Given the description of an element on the screen output the (x, y) to click on. 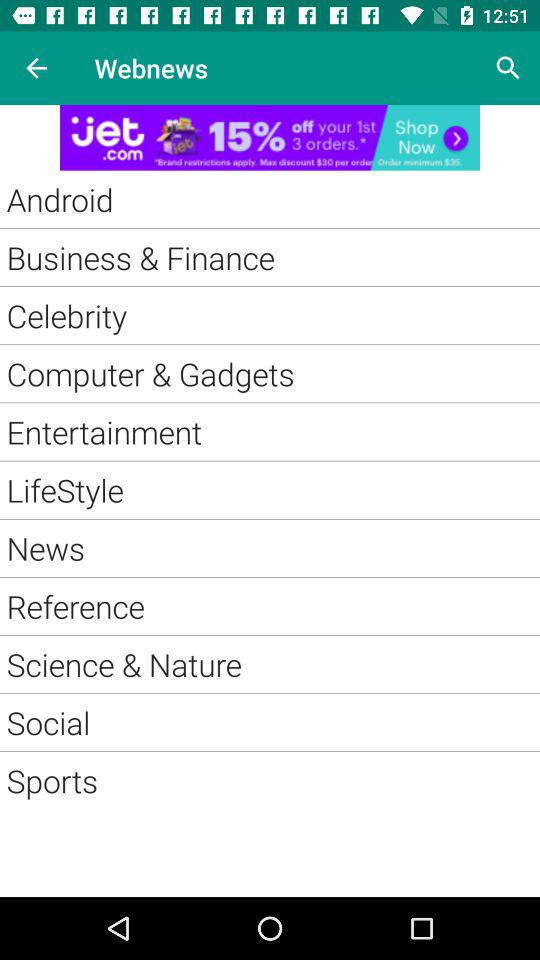
go to advertisement (270, 137)
